Given the description of an element on the screen output the (x, y) to click on. 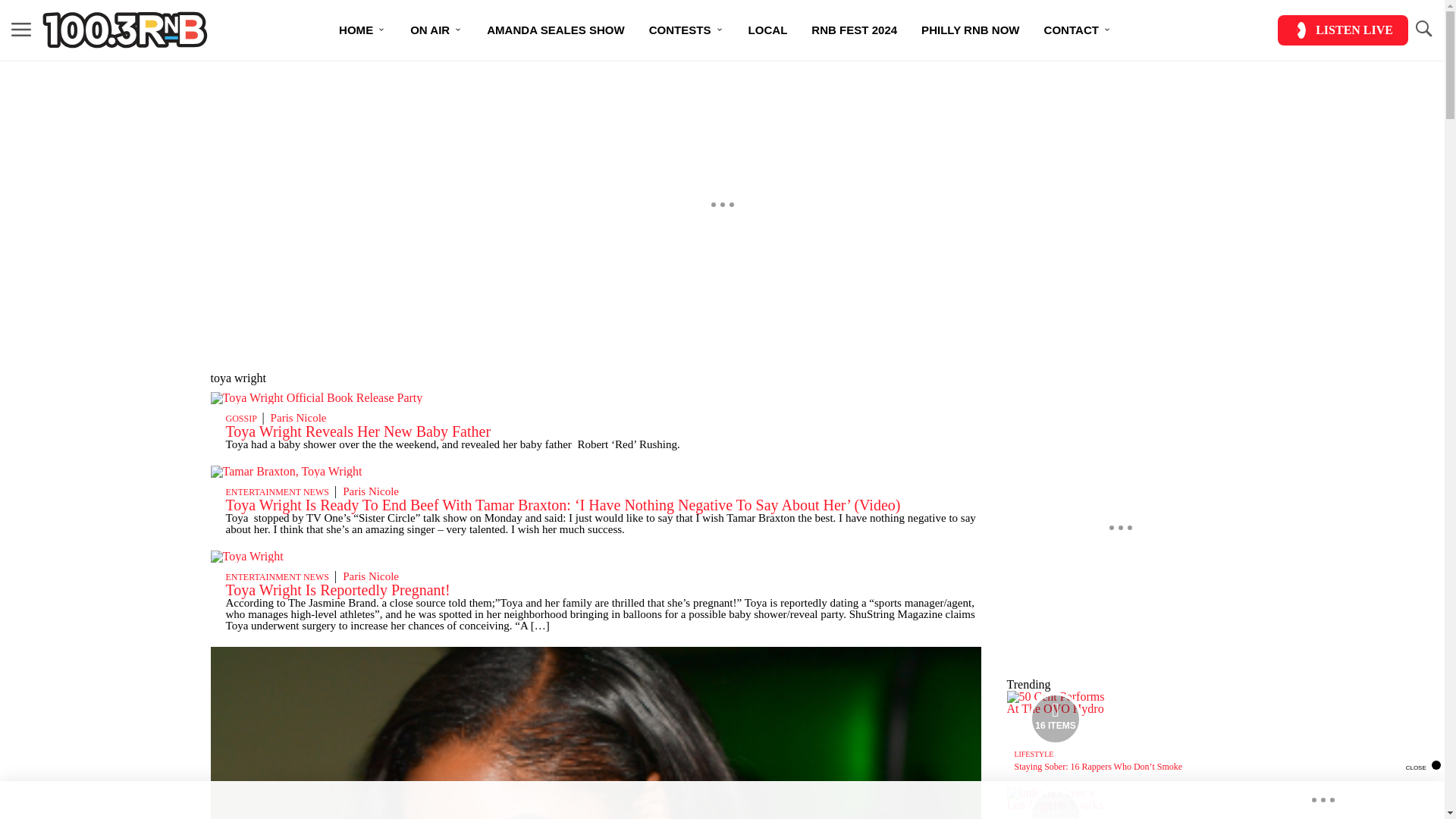
AMANDA SEALES SHOW (555, 30)
ON AIR (435, 30)
Paris Nicole (298, 417)
Media Playlist (1055, 803)
Paris Nicole (370, 576)
CONTESTS (686, 30)
TOGGLE SEARCH (1422, 30)
MENU (20, 29)
Toya Wright Reveals Her New Baby Father (358, 431)
RNB FEST 2024 (853, 30)
